Given the description of an element on the screen output the (x, y) to click on. 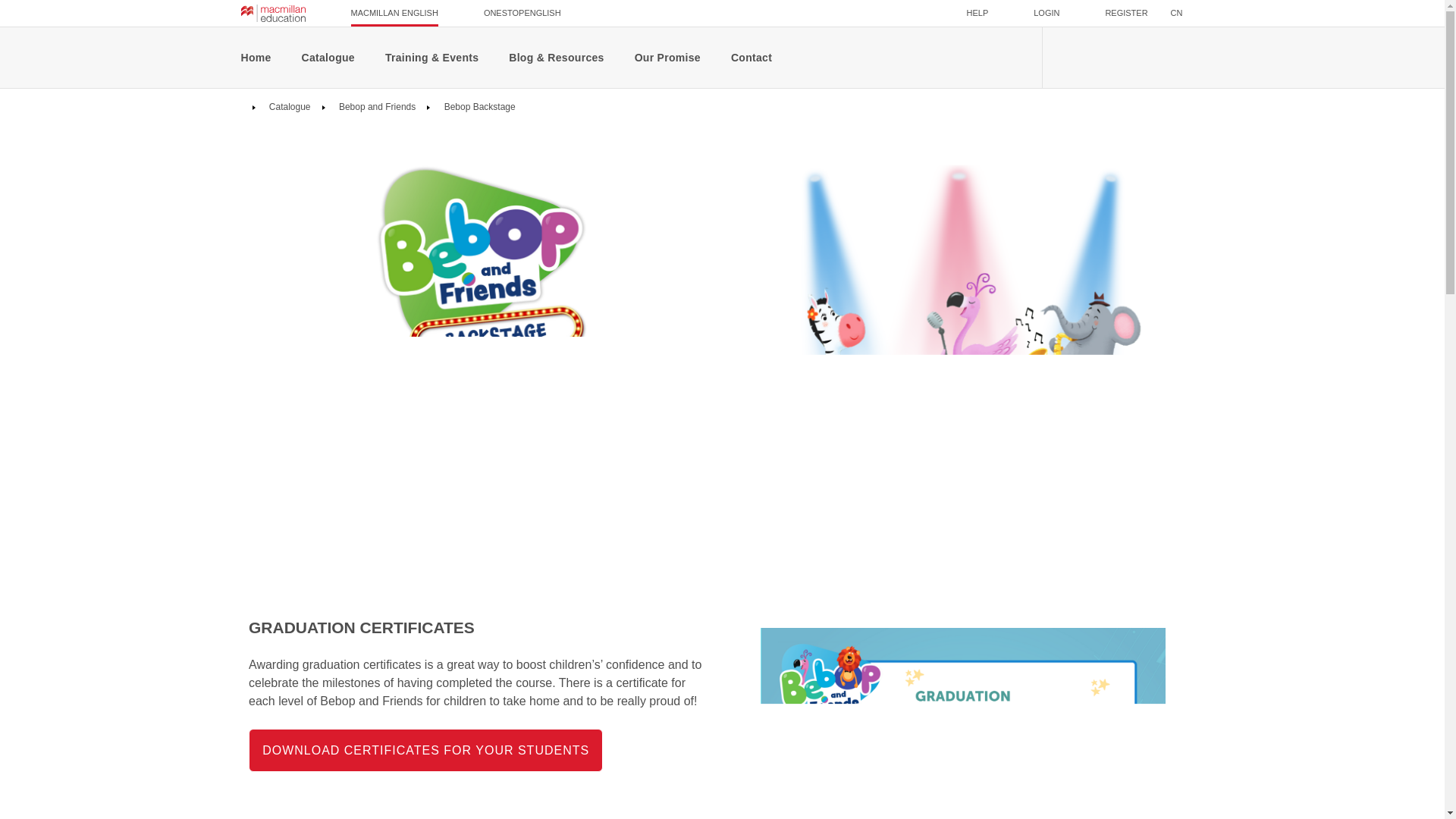
Macmillan English Home page (273, 12)
Bebop Backstage (478, 106)
Catalogue (288, 106)
DOWNLOAD CERTIFICATES FOR YOUR STUDENTS (425, 750)
Our Promise (667, 57)
Bebop and Friends (376, 106)
LOGIN (1046, 13)
Bebop Backstage (478, 106)
Bebop and Friends (376, 106)
MACMILLAN ENGLISH (394, 13)
